Given the description of an element on the screen output the (x, y) to click on. 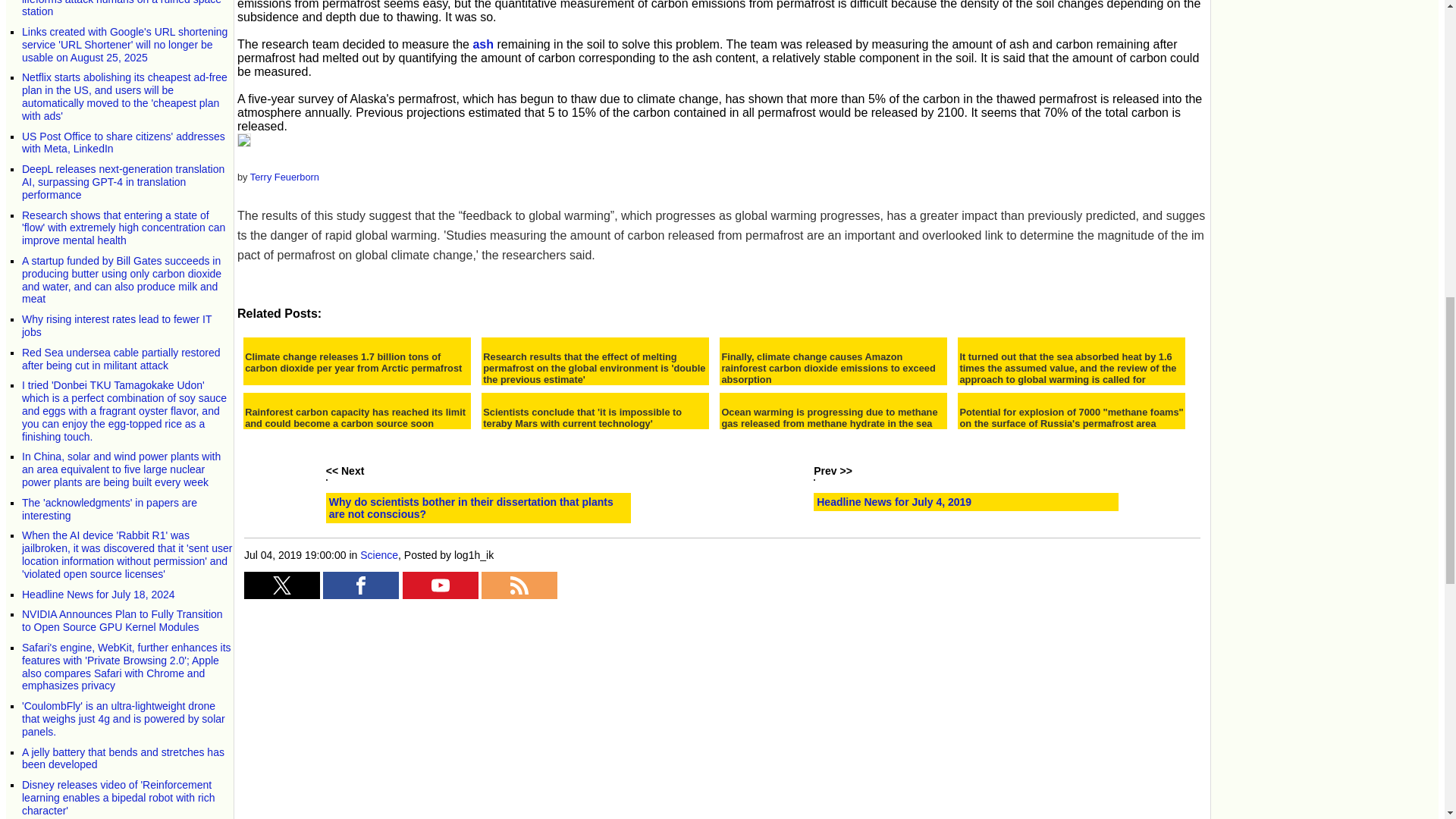
Terry Feuerborn (284, 176)
ash (482, 43)
Headline News for July 4, 2019 (893, 501)
